Given the description of an element on the screen output the (x, y) to click on. 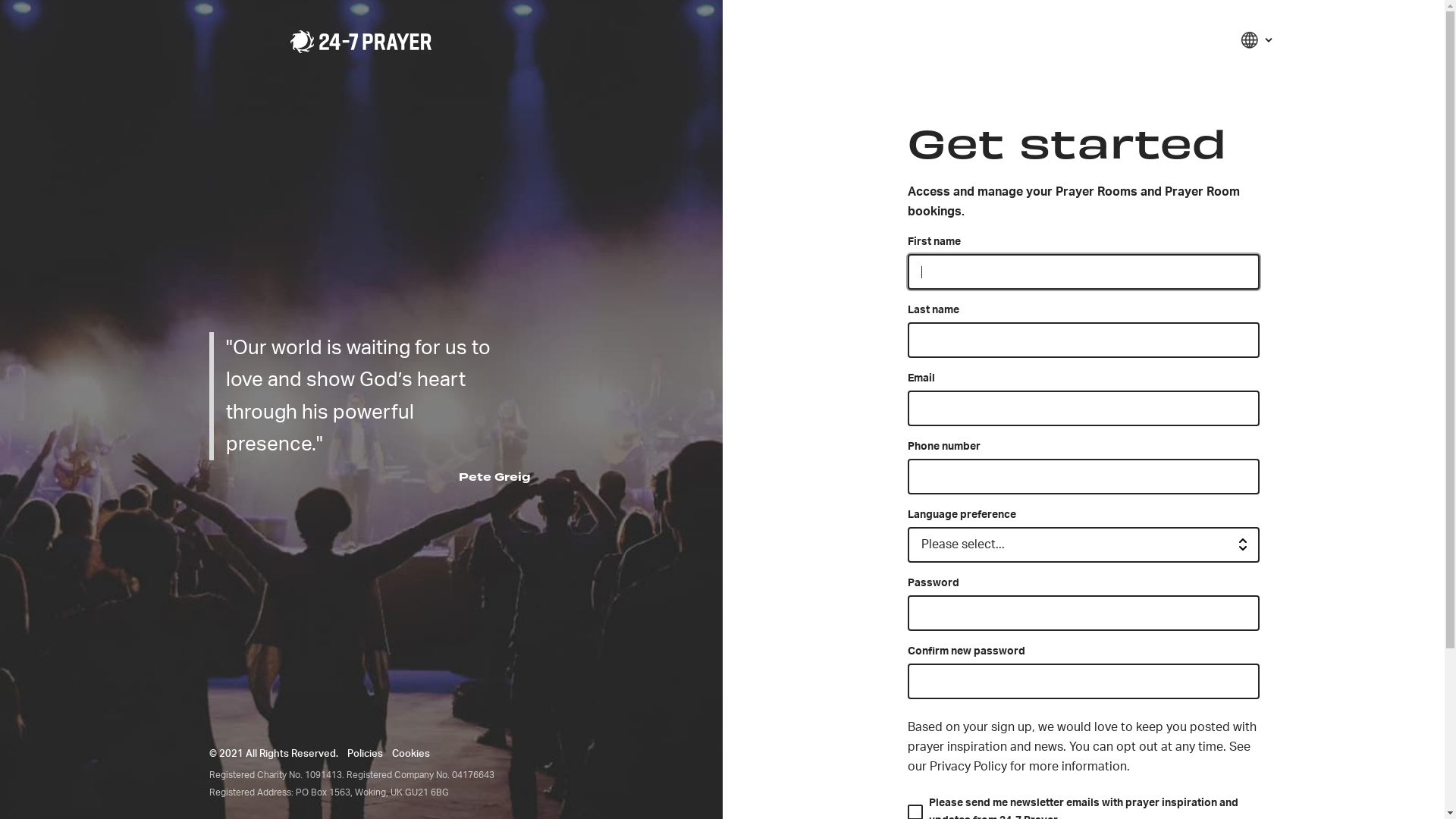
Policies Element type: text (364, 754)
Cookies Element type: text (410, 754)
